Given the description of an element on the screen output the (x, y) to click on. 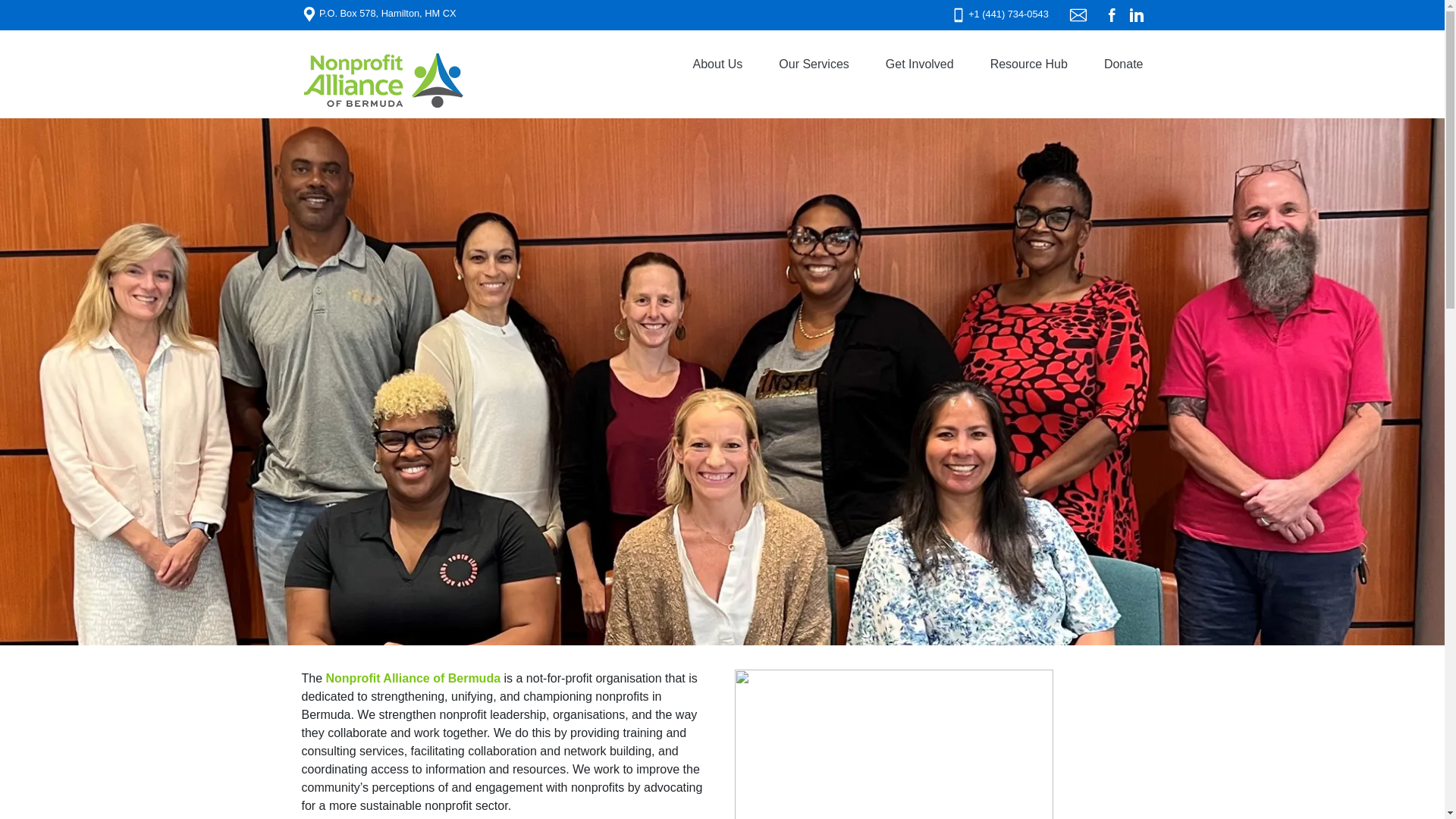
Resource Hub (1029, 64)
Our Services (813, 64)
Nonprofit Alliance of Bermuda (413, 677)
About Us (718, 64)
Get Involved (919, 64)
P.O. Box 578, Hamilton, HM CX (379, 12)
